Given the description of an element on the screen output the (x, y) to click on. 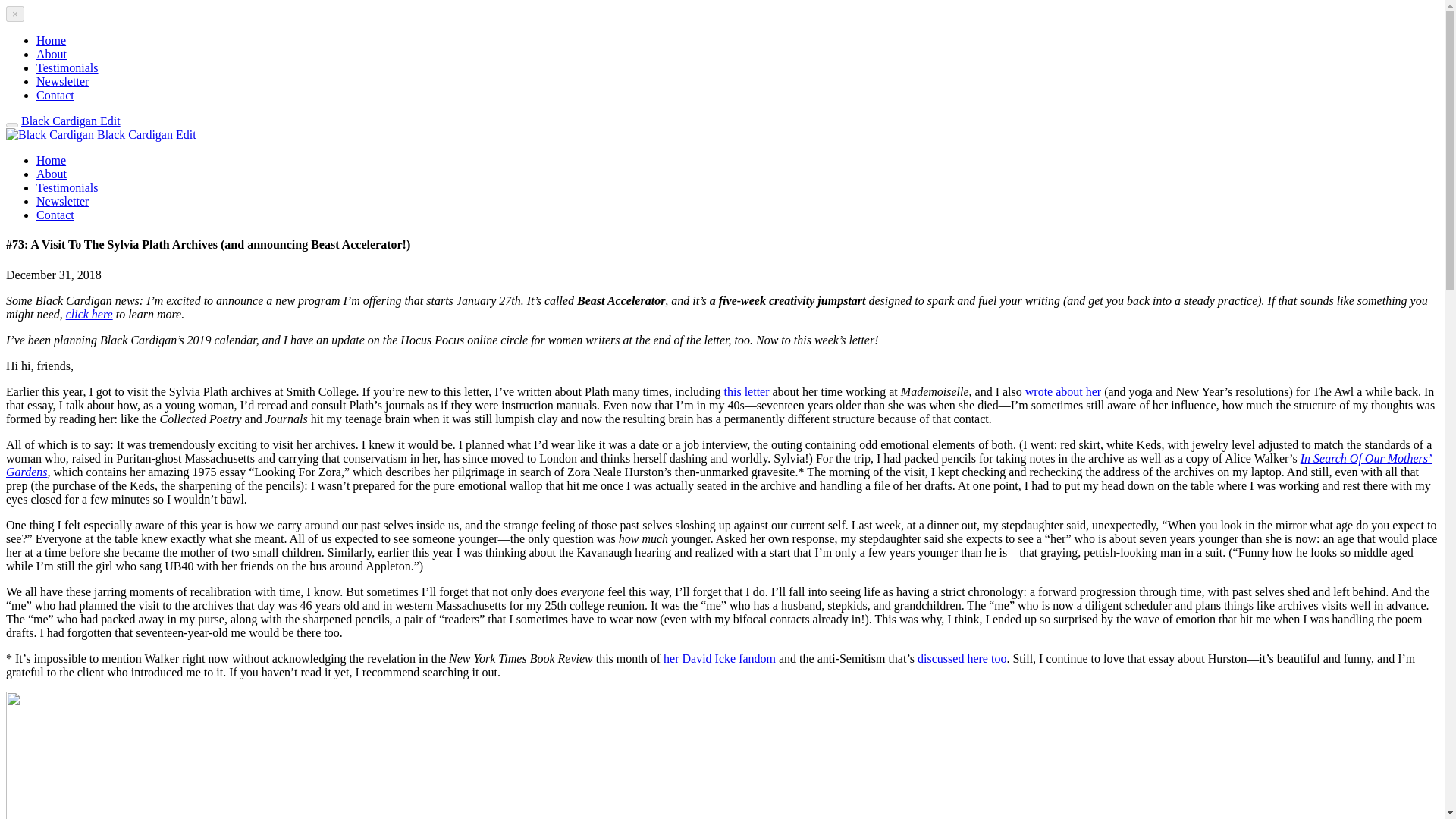
About (51, 53)
Testimonials (67, 187)
Black Cardigan Edit (70, 120)
Newsletter (62, 201)
Newsletter (62, 81)
Testimonials (67, 67)
Contact (55, 94)
click here (89, 314)
Home (50, 160)
her David Icke fandom (719, 658)
